Given the description of an element on the screen output the (x, y) to click on. 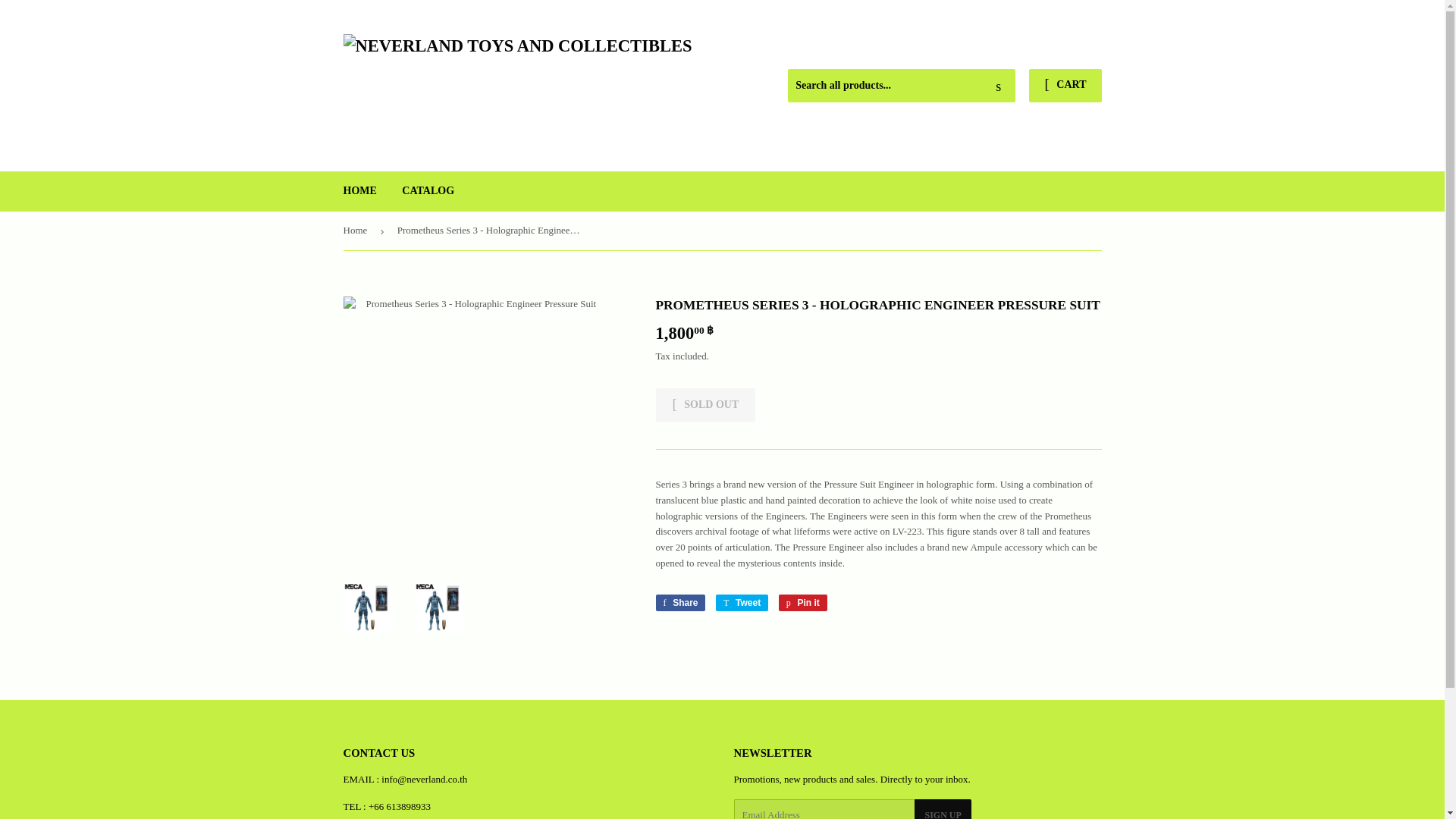
CATALOG (427, 190)
Tweet on Twitter (742, 602)
HOME (679, 602)
CART (359, 190)
SOLD OUT (1064, 85)
Share on Facebook (705, 404)
SIGN UP (679, 602)
Search (802, 602)
Pin on Pinterest (742, 602)
